Given the description of an element on the screen output the (x, y) to click on. 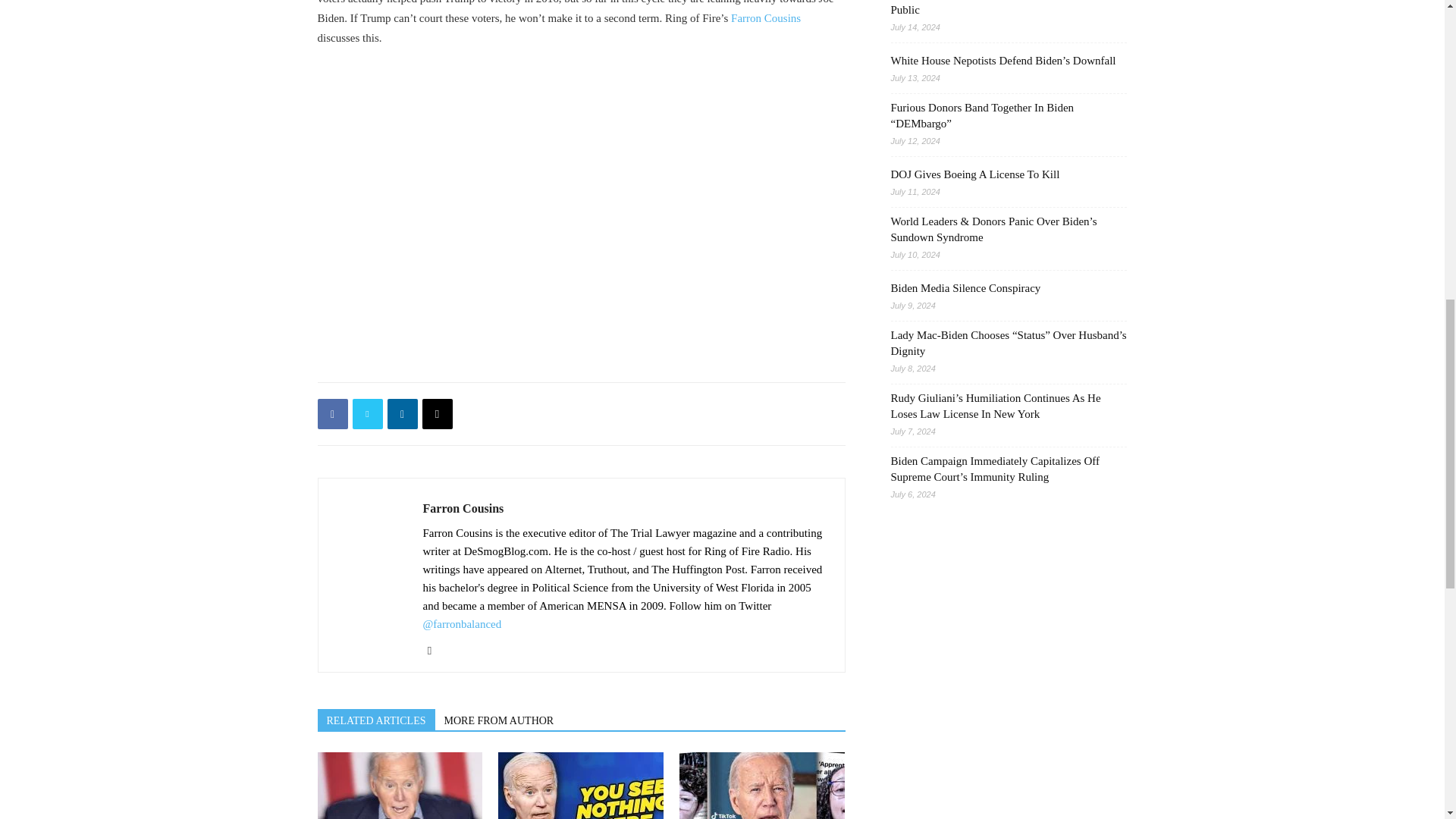
Twitter (435, 650)
